Given the description of an element on the screen output the (x, y) to click on. 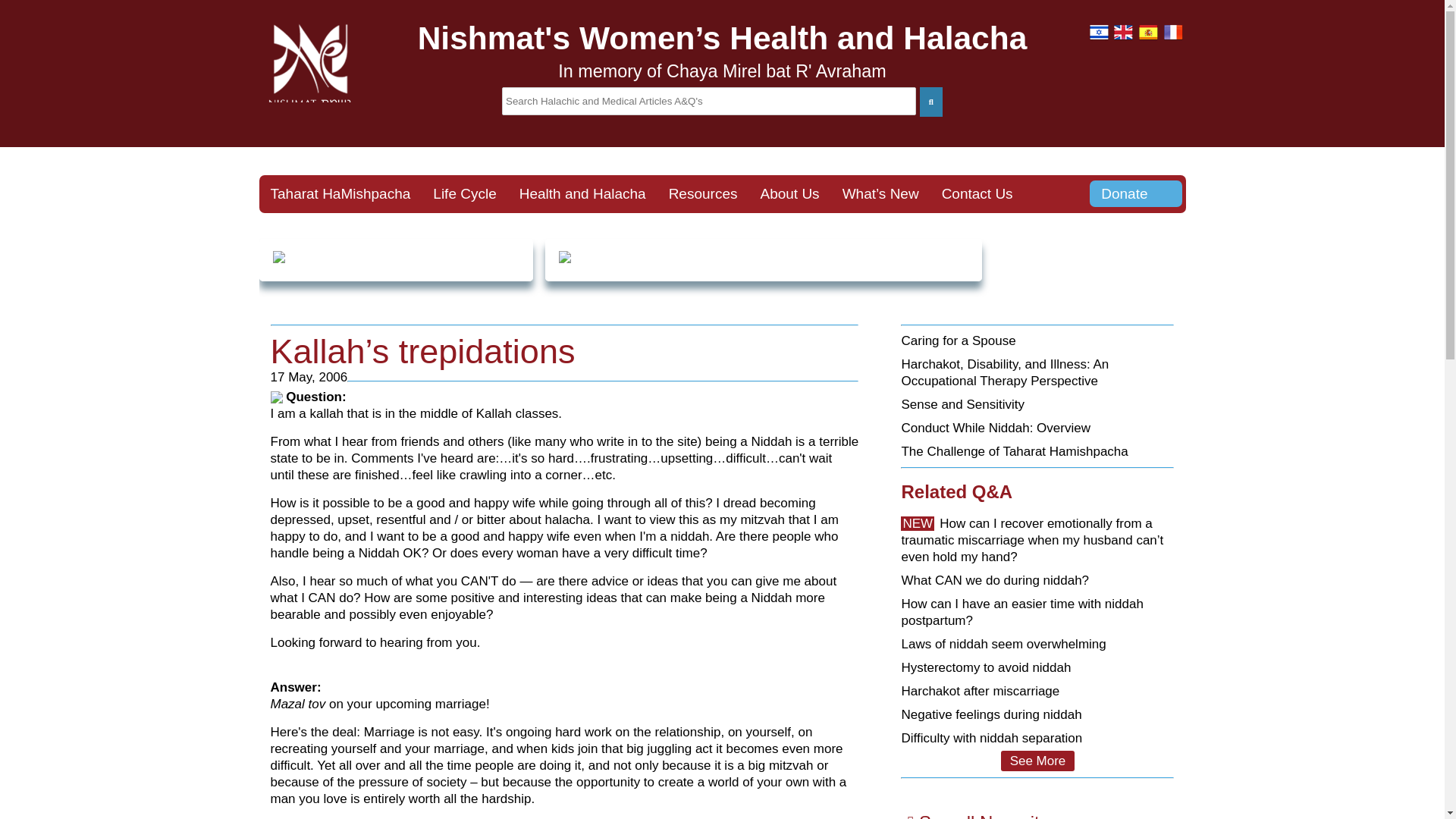
Search for: (708, 100)
Taharat HaMishpacha (340, 193)
